Given the description of an element on the screen output the (x, y) to click on. 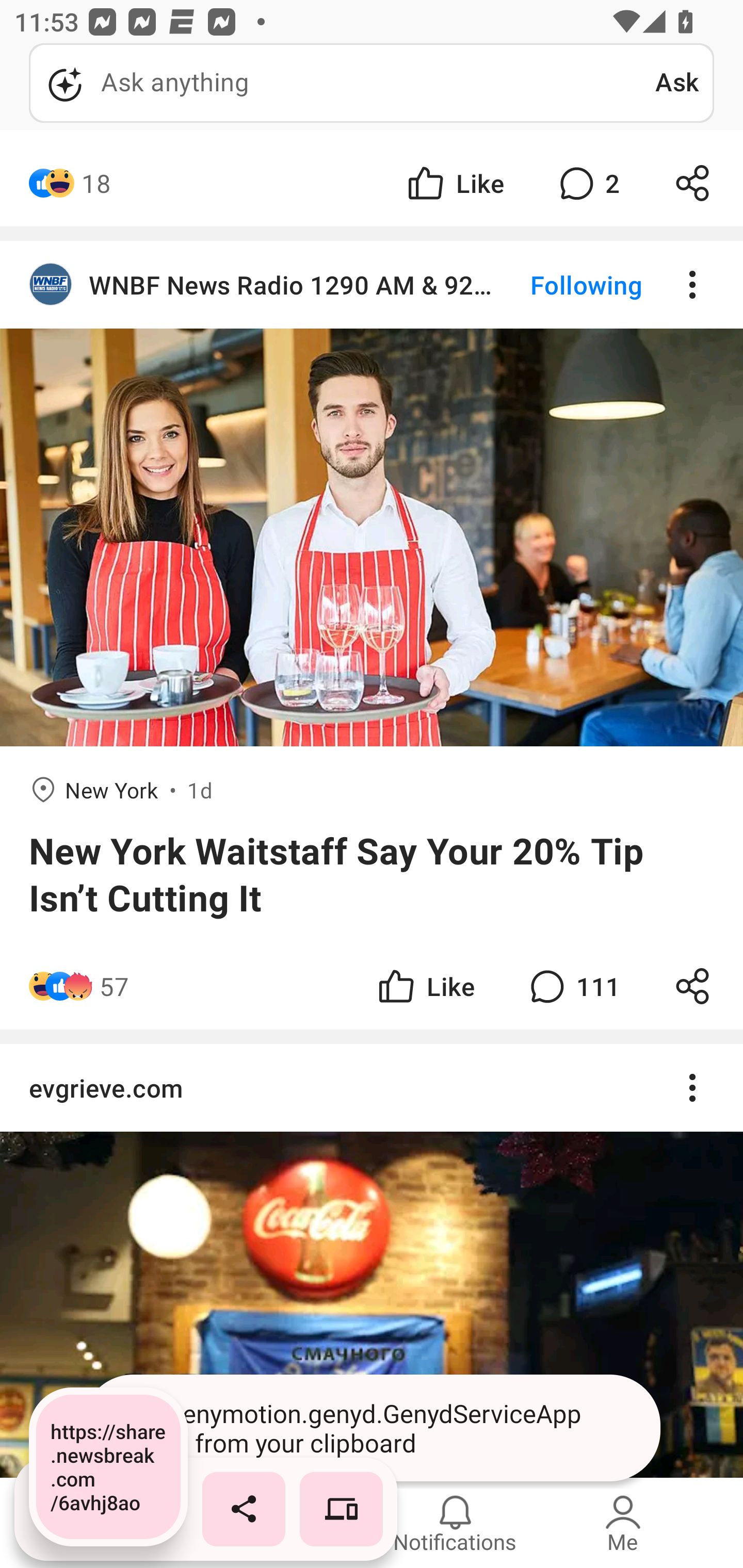
Ask anything (341, 82)
18 (95, 182)
Like (454, 182)
2 (587, 182)
WNBF News Radio 1290 AM & 92.1 FM Following (371, 285)
Following (569, 285)
57 (114, 986)
Like (425, 986)
111 (572, 986)
evgrieve.com (371, 1088)
Notifications (455, 1522)
Me (622, 1522)
